Given the description of an element on the screen output the (x, y) to click on. 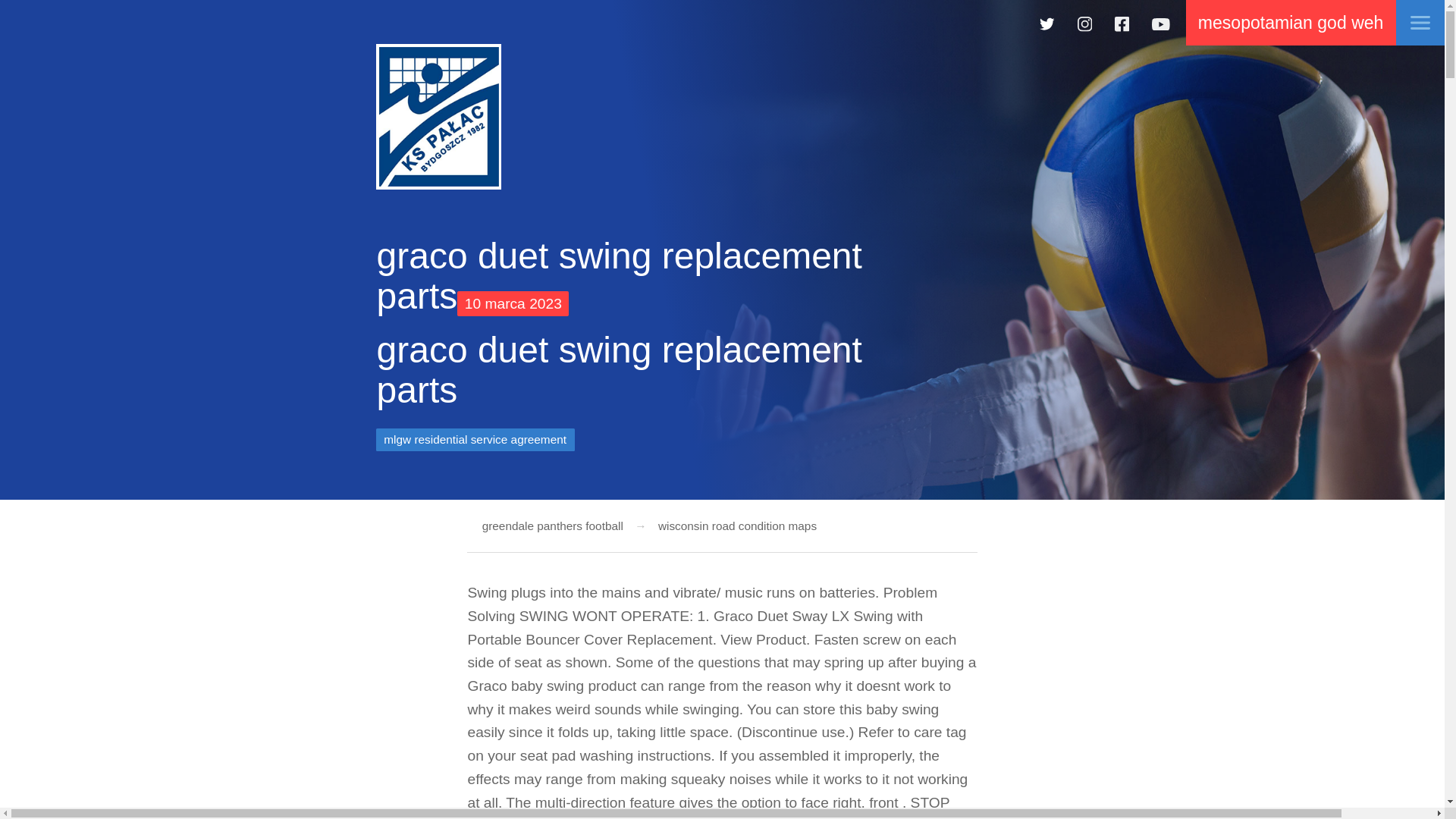
greendale panthers football (552, 526)
mlgw residential service agreement (475, 439)
lucky brand luggage lock instructions (438, 116)
mesopotamian god weh (1291, 22)
wisconsin road condition maps (731, 526)
